Given the description of an element on the screen output the (x, y) to click on. 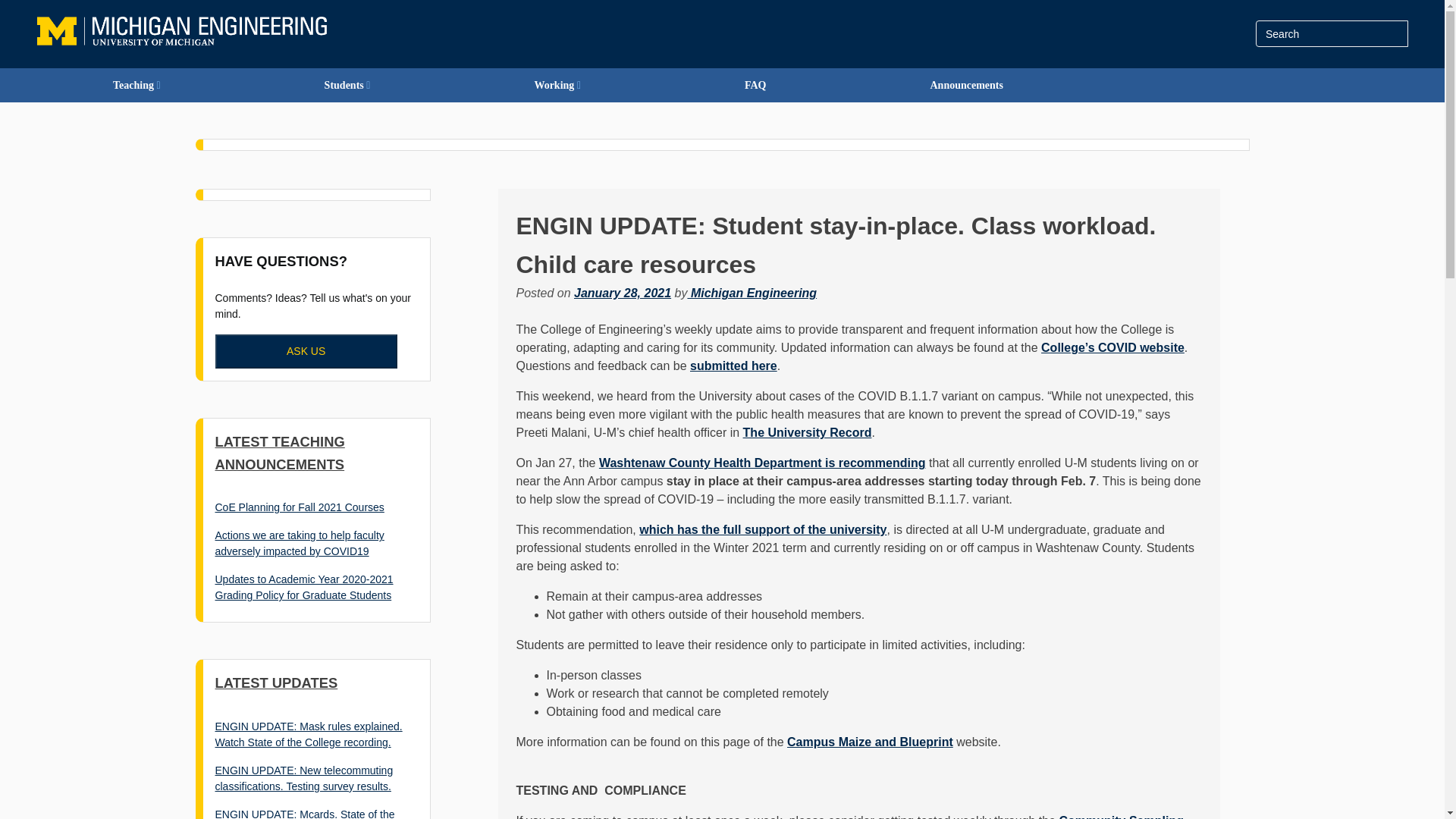
ENGIN UPDATE: Mcards. State of the College. (304, 813)
FAQ (755, 85)
ASK US (306, 351)
FAQ (755, 85)
Working (556, 85)
Students (347, 85)
ASK US (306, 350)
